Given the description of an element on the screen output the (x, y) to click on. 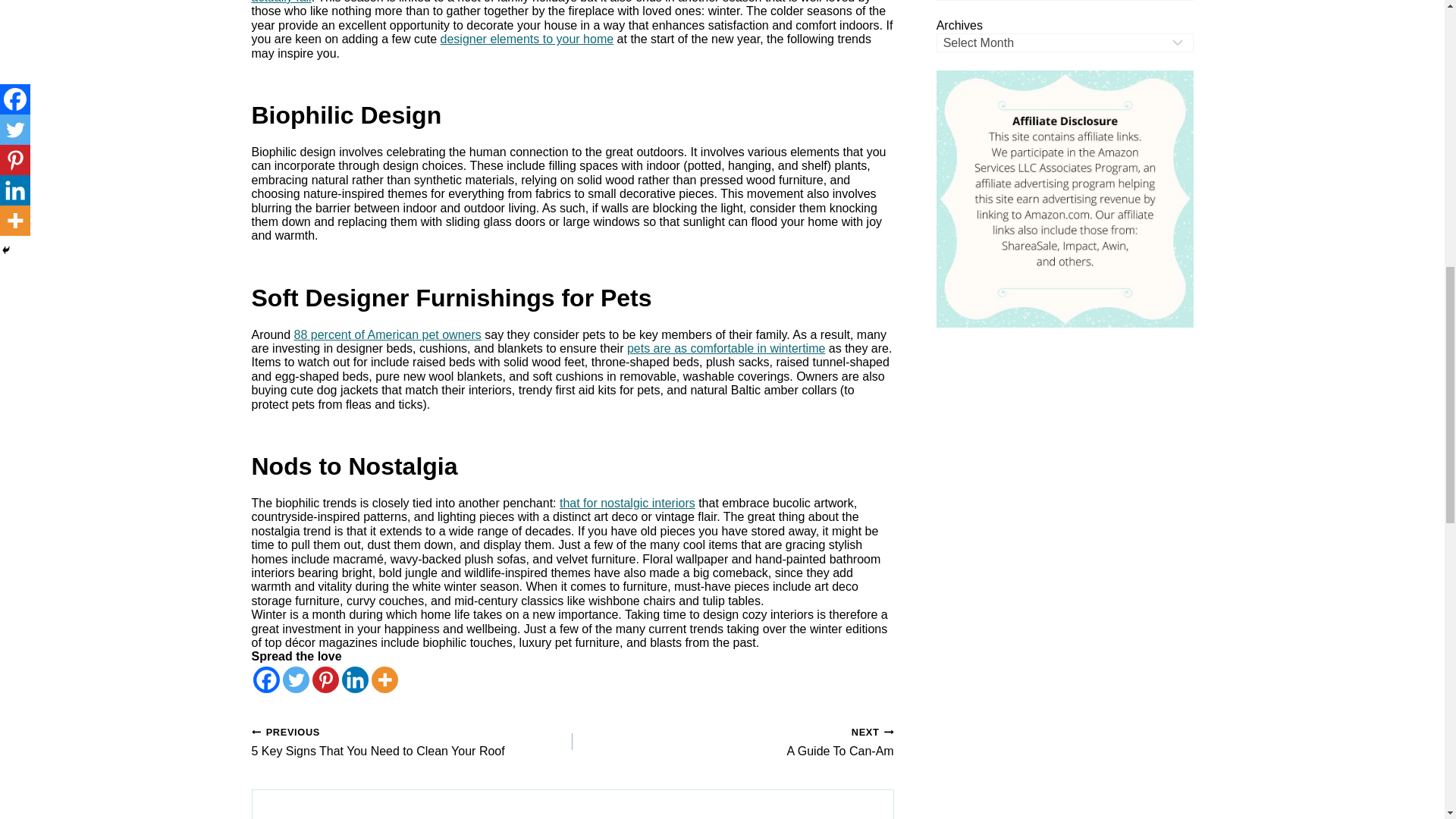
Linkedin (354, 679)
Twitter (295, 679)
Pinterest (326, 679)
More (384, 679)
Facebook (266, 679)
